Given the description of an element on the screen output the (x, y) to click on. 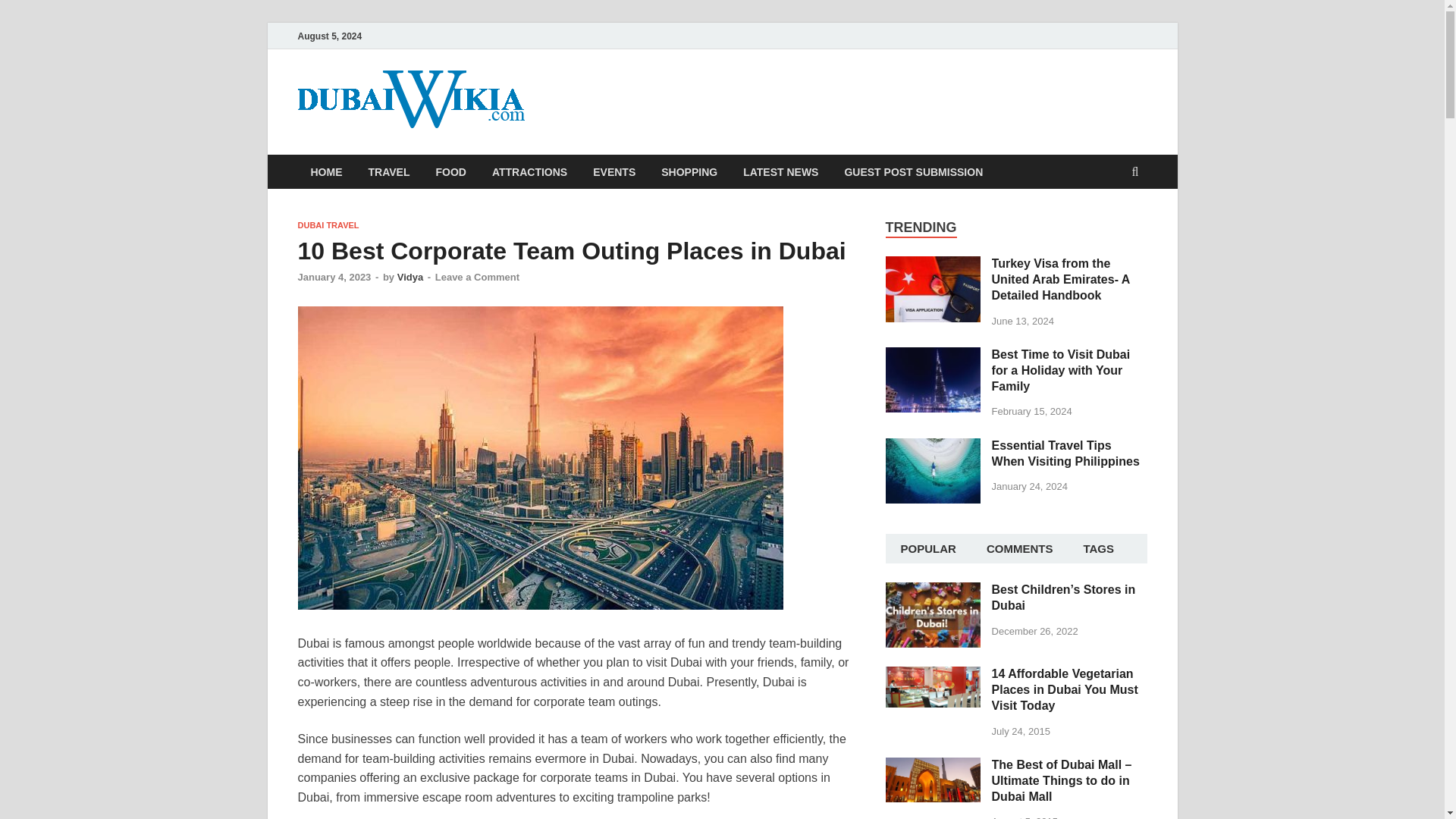
January 4, 2023 (334, 276)
COMMENTS (1019, 548)
SHOPPING (688, 171)
Essential Travel Tips When Visiting Philippines (1065, 452)
Best Time to Visit Dubai for a Holiday with Your Family (932, 355)
FOOD (450, 171)
POPULAR (928, 548)
LATEST NEWS (780, 171)
DUBAI TRAVEL (327, 225)
HOME (326, 171)
ATTRACTIONS (529, 171)
Essential Travel Tips When Visiting Philippines (932, 446)
